Given the description of an element on the screen output the (x, y) to click on. 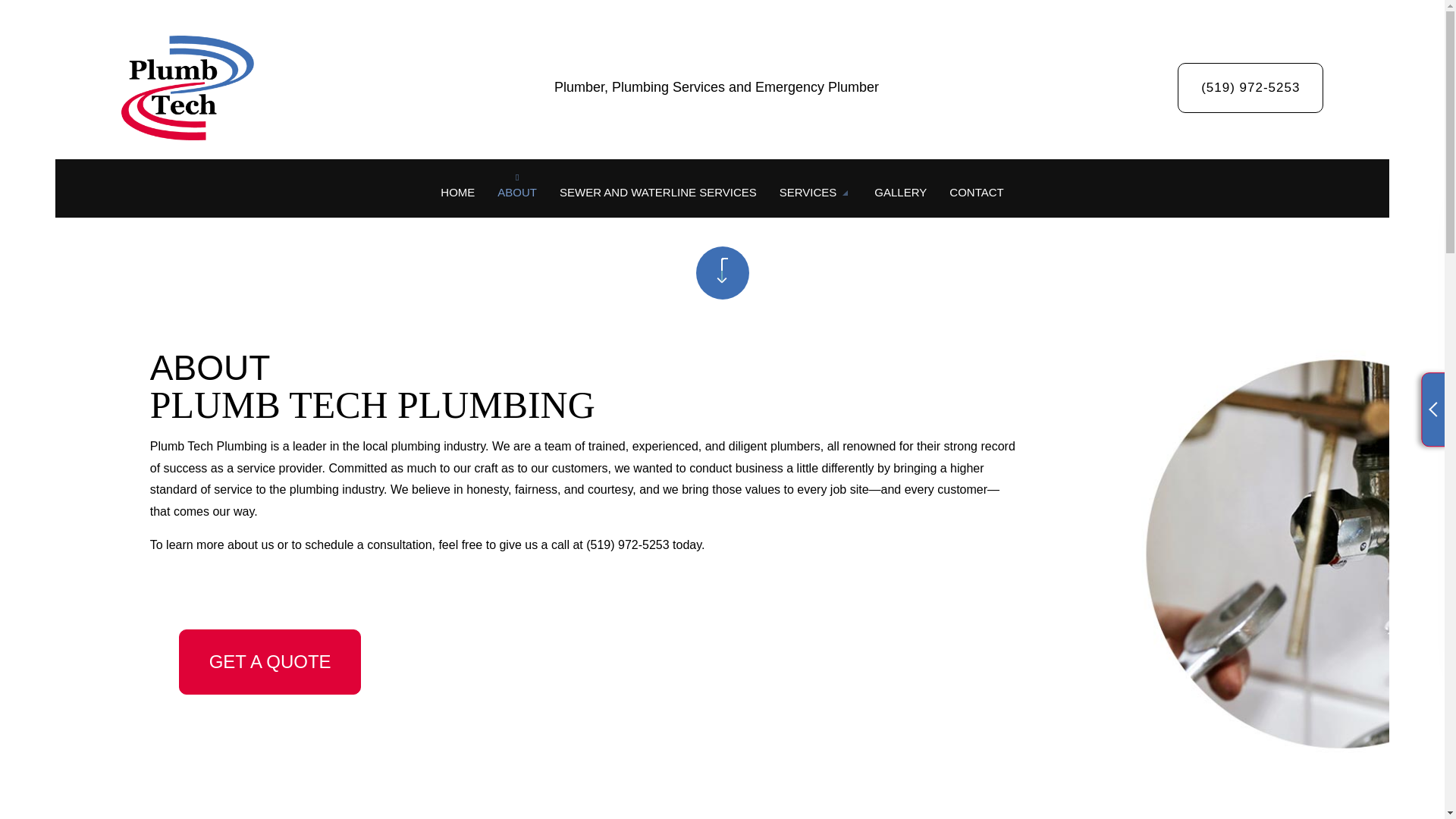
SERVICES (815, 192)
COMMERCIAL PLUMBING (900, 274)
Get A Quote (270, 661)
SEPTIC EXCAVATION (695, 274)
Plumb Tech Plumbing (186, 84)
EXCAVATION SERVICES (900, 248)
HOME (457, 192)
ABOUT (517, 192)
DRAIN UNCLOGGING SERVICES (900, 301)
BASEMENT FLOODING (695, 248)
SEWER AND WATERLINE SERVICES (658, 192)
DRAIN CAMERA INSPECTIONS (695, 301)
